Given the description of an element on the screen output the (x, y) to click on. 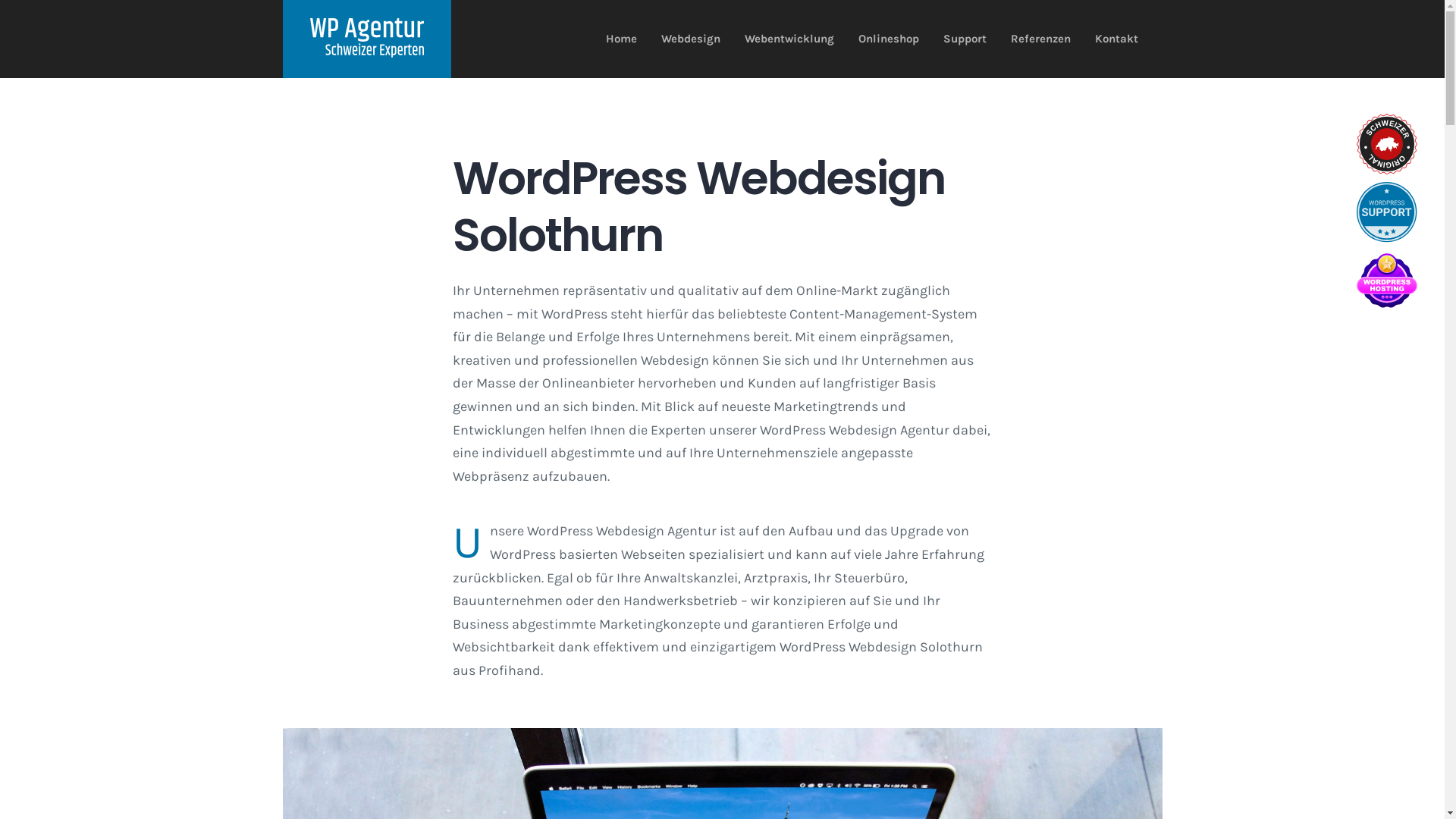
Support Element type: text (964, 39)
Webdesign Element type: text (690, 39)
Onlineshop Element type: text (888, 39)
Kontakt Element type: text (1116, 39)
Referenzen Element type: text (1040, 39)
Webentwicklung Element type: text (789, 39)
Home Element type: text (620, 39)
